Given the description of an element on the screen output the (x, y) to click on. 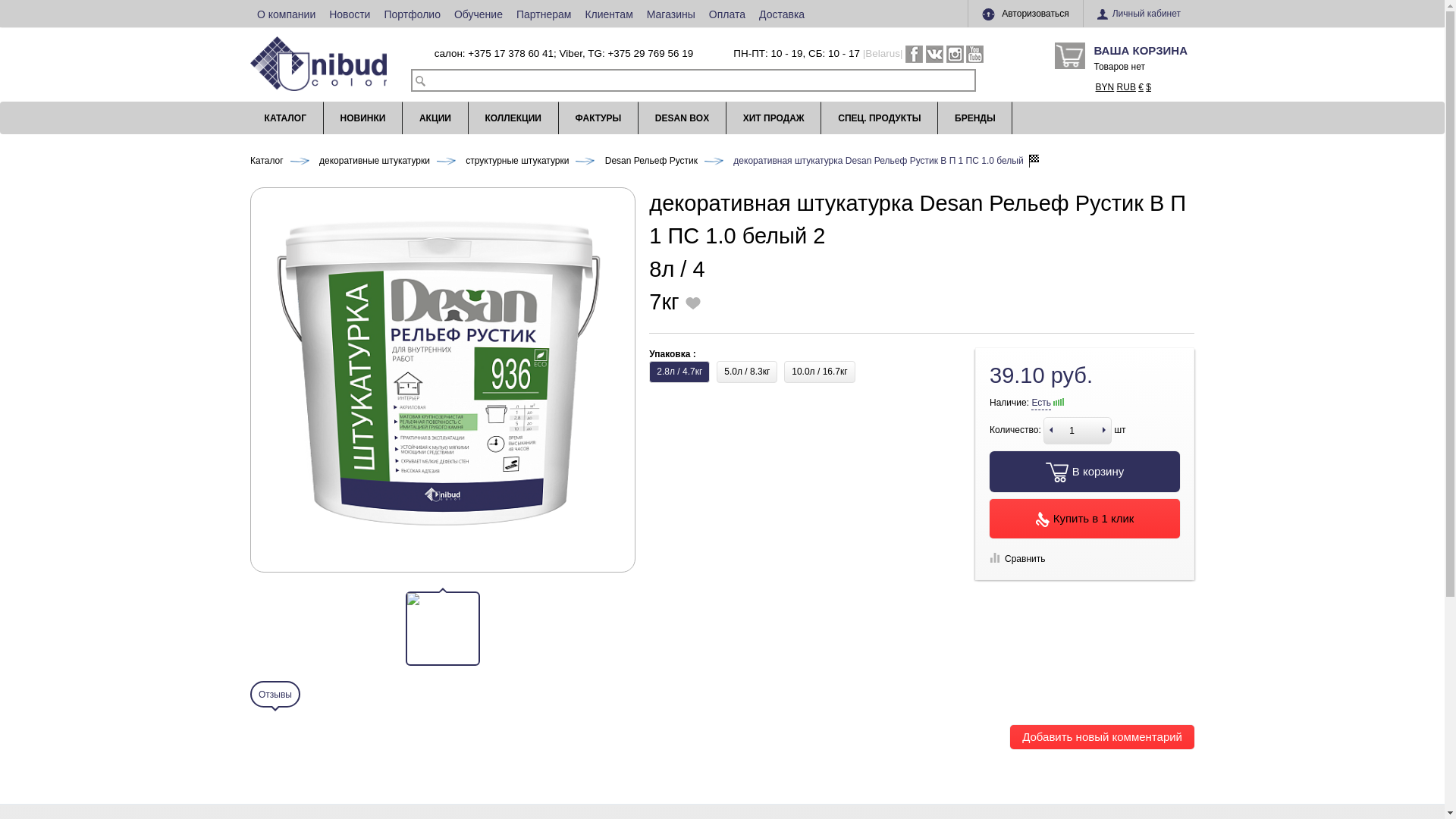
RUB Element type: text (1126, 86)
BYN Element type: text (1104, 86)
DESAN BOX Element type: text (681, 117)
$ Element type: text (1148, 86)
